Given the description of an element on the screen output the (x, y) to click on. 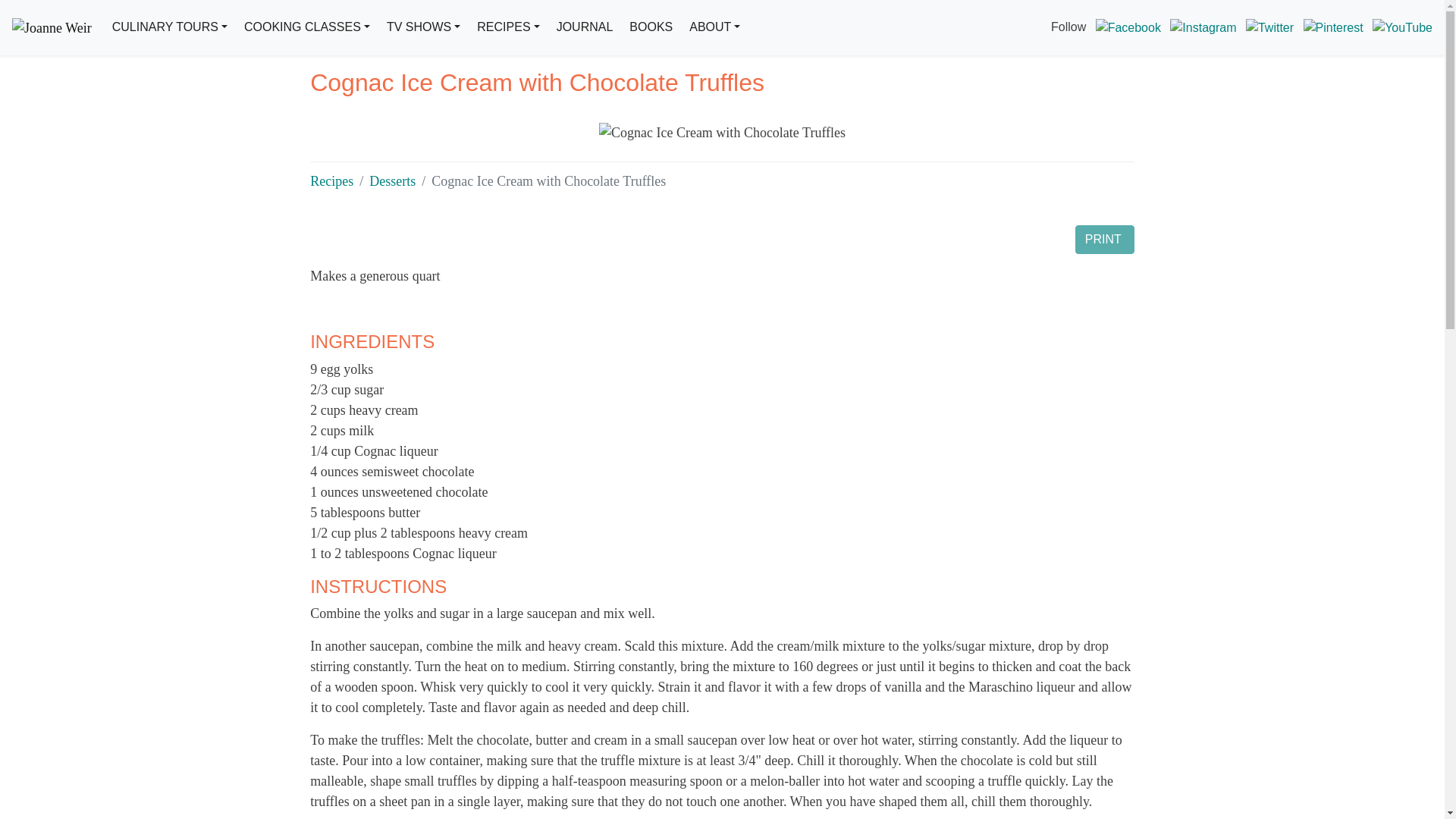
JOURNAL (584, 27)
CULINARY TOURS (169, 27)
Joanne Weir (51, 27)
TV SHOWS (422, 27)
COOKING CLASSES (307, 27)
Search (773, 96)
RECIPES (507, 27)
